Given the description of an element on the screen output the (x, y) to click on. 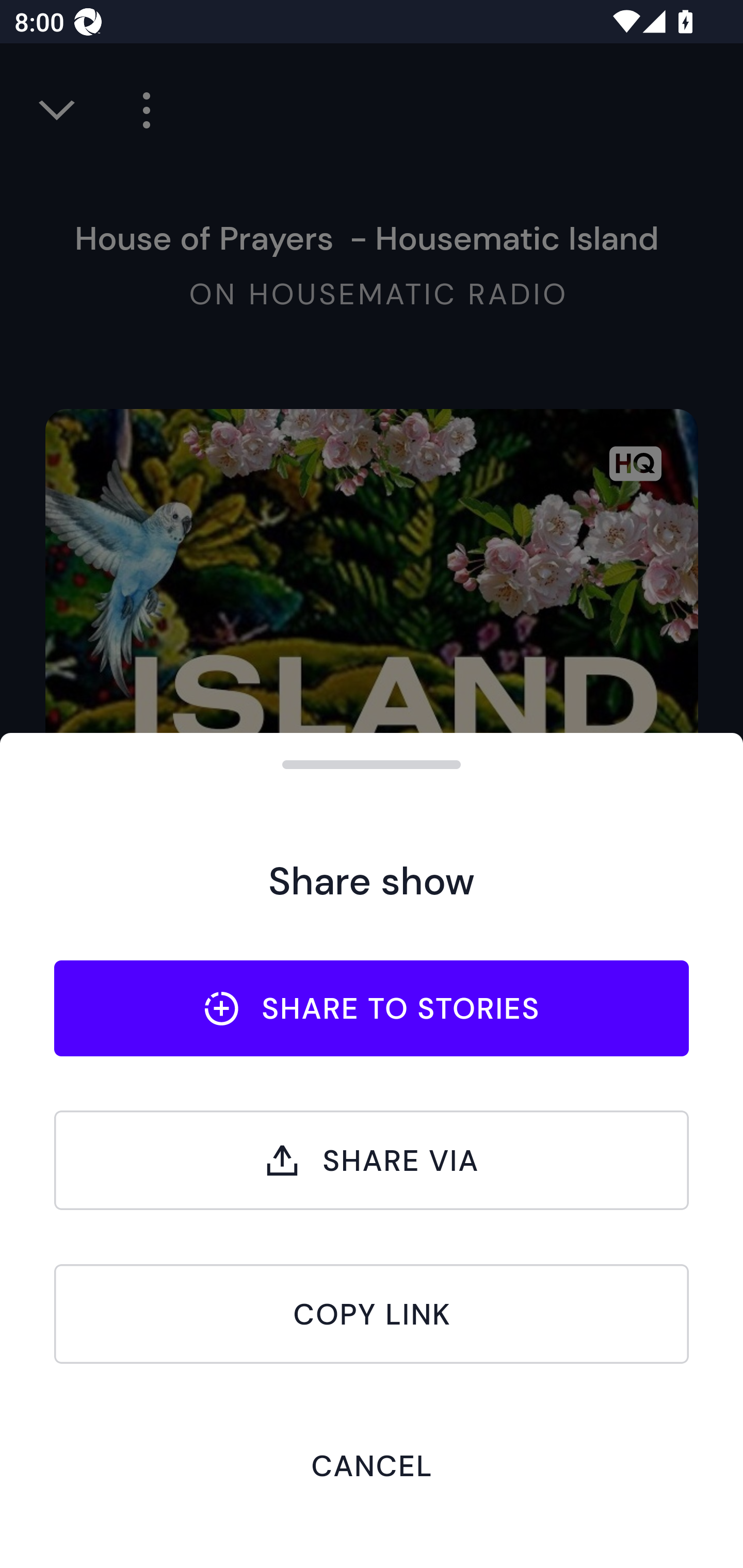
Close full player (58, 110)
Player more options button (139, 110)
Share to stories SHARE TO STORIES (371, 1007)
Share VIA SHARE VIA (371, 1160)
Copy link COPY LINK (371, 1313)
Cancel CANCEL (371, 1465)
